Given the description of an element on the screen output the (x, y) to click on. 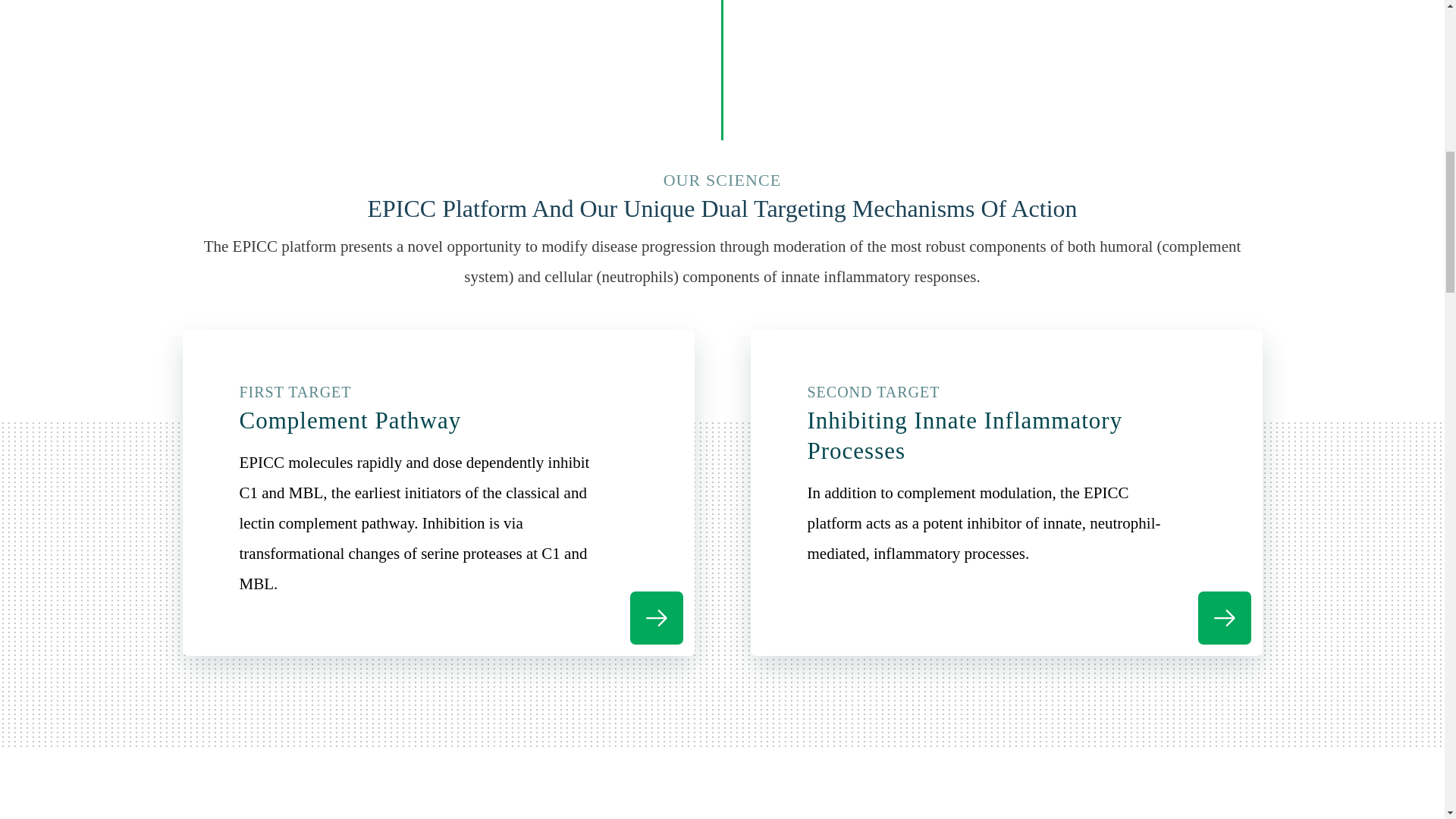
Learn More (655, 617)
Learn More (1224, 617)
